Given the description of an element on the screen output the (x, y) to click on. 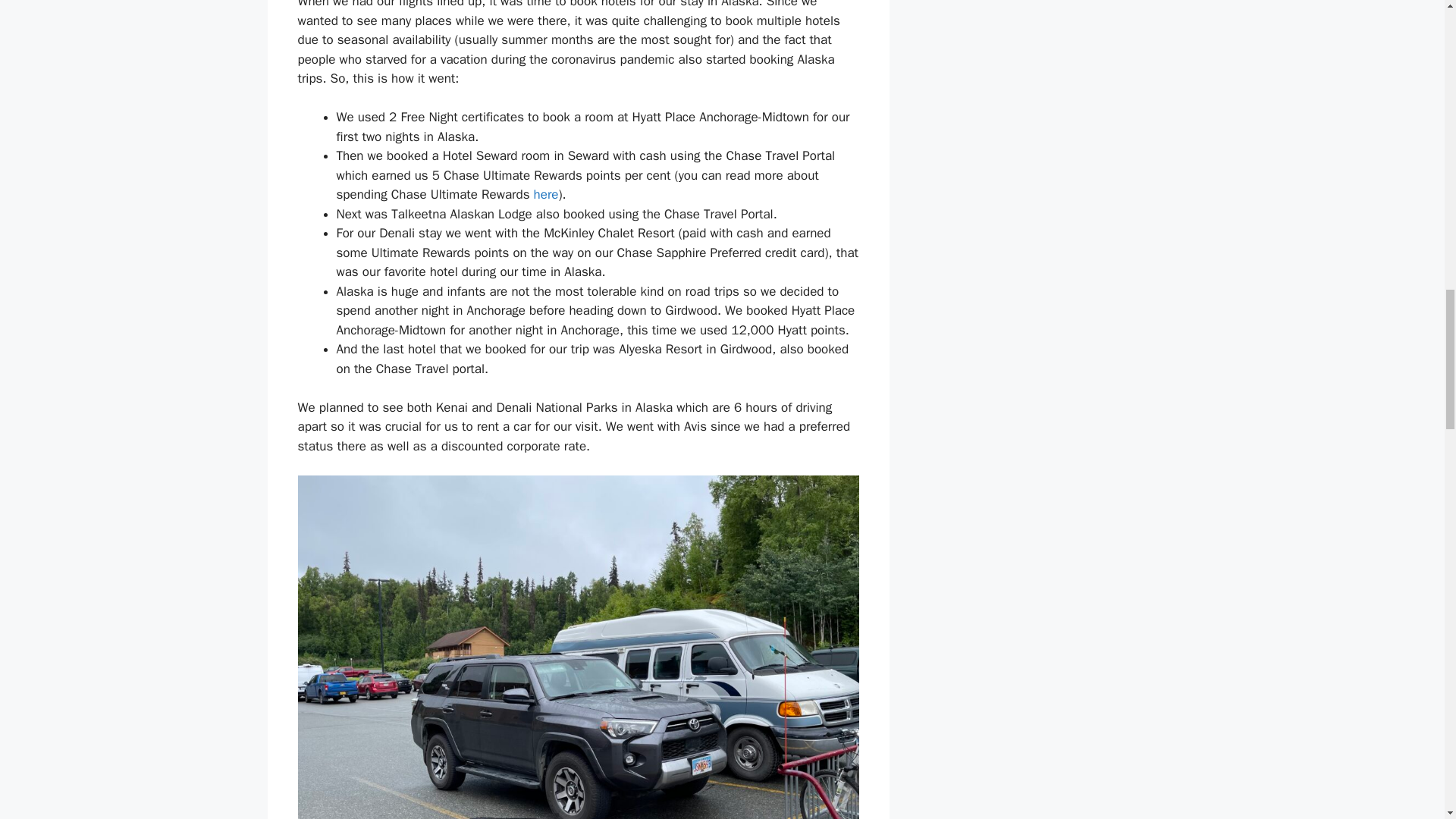
here (546, 194)
